Given the description of an element on the screen output the (x, y) to click on. 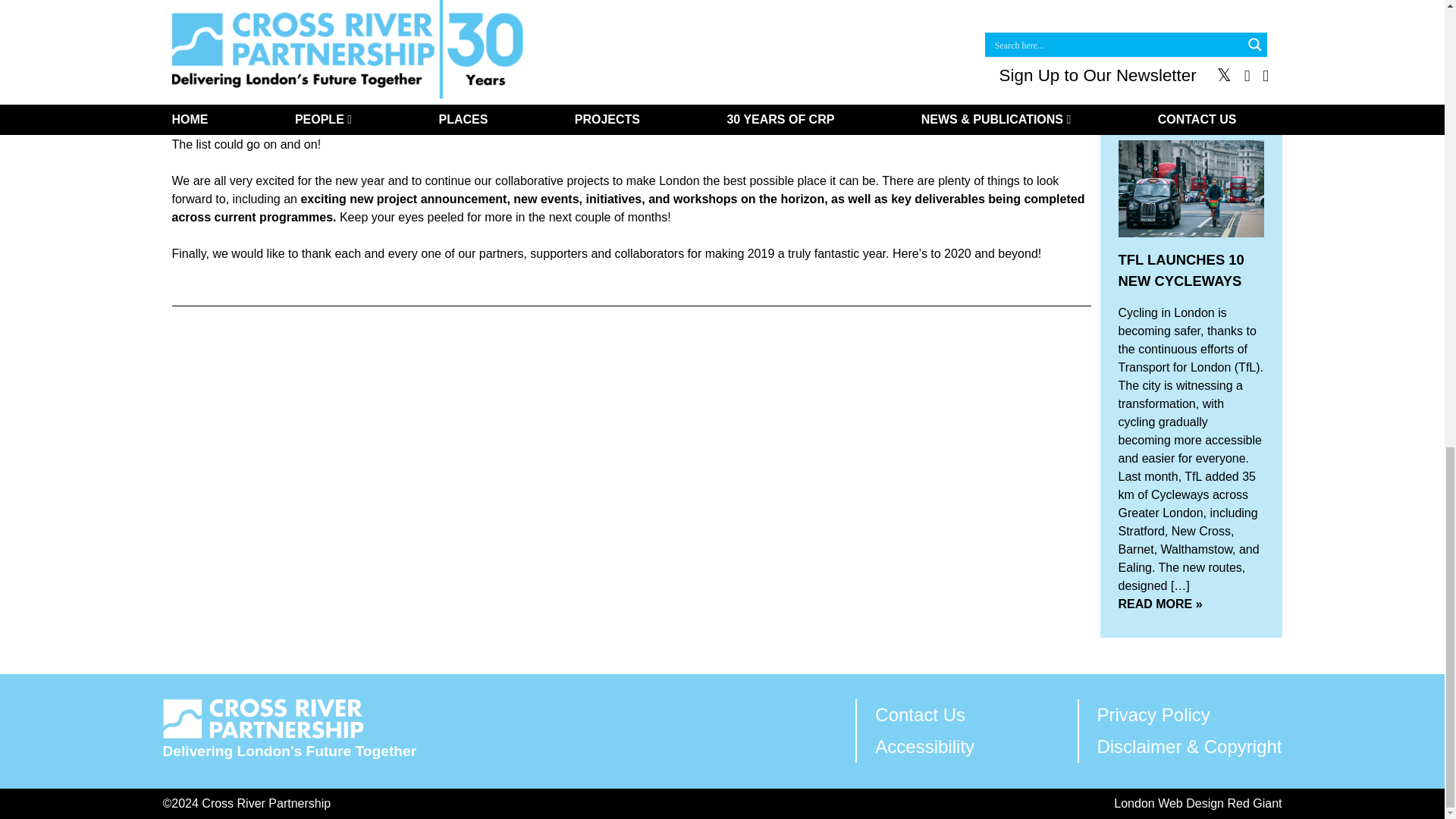
Clean Air Route Finder (323, 16)
Clean Air Villages Supplier Directory (507, 16)
Recruit London (244, 2)
